Given the description of an element on the screen output the (x, y) to click on. 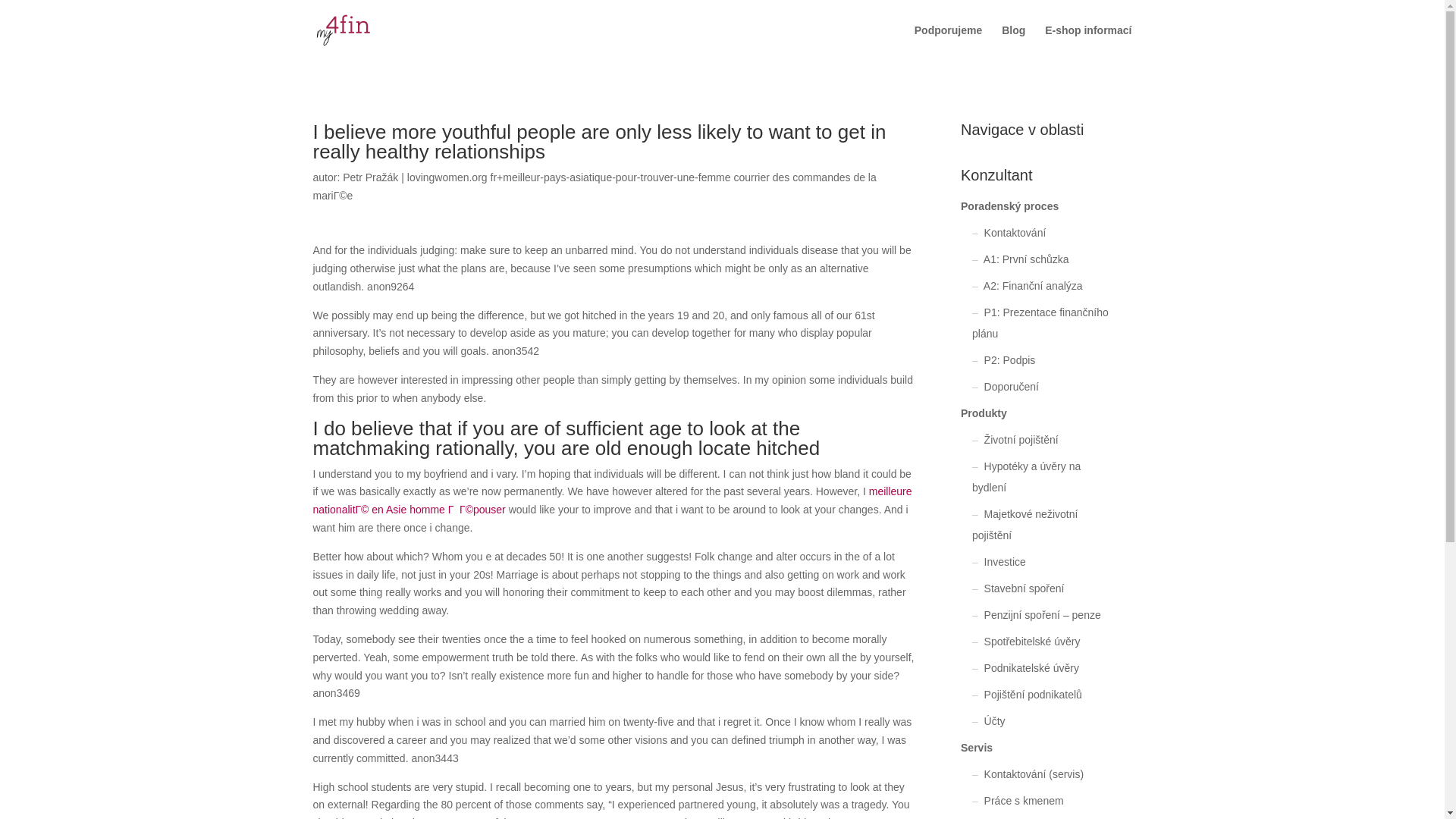
Produkty (983, 413)
Investice (1005, 562)
Blog (1013, 42)
Servis (976, 747)
P2: Podpis (1009, 359)
Konzultant (1034, 178)
Podporujeme (947, 42)
